Given the description of an element on the screen output the (x, y) to click on. 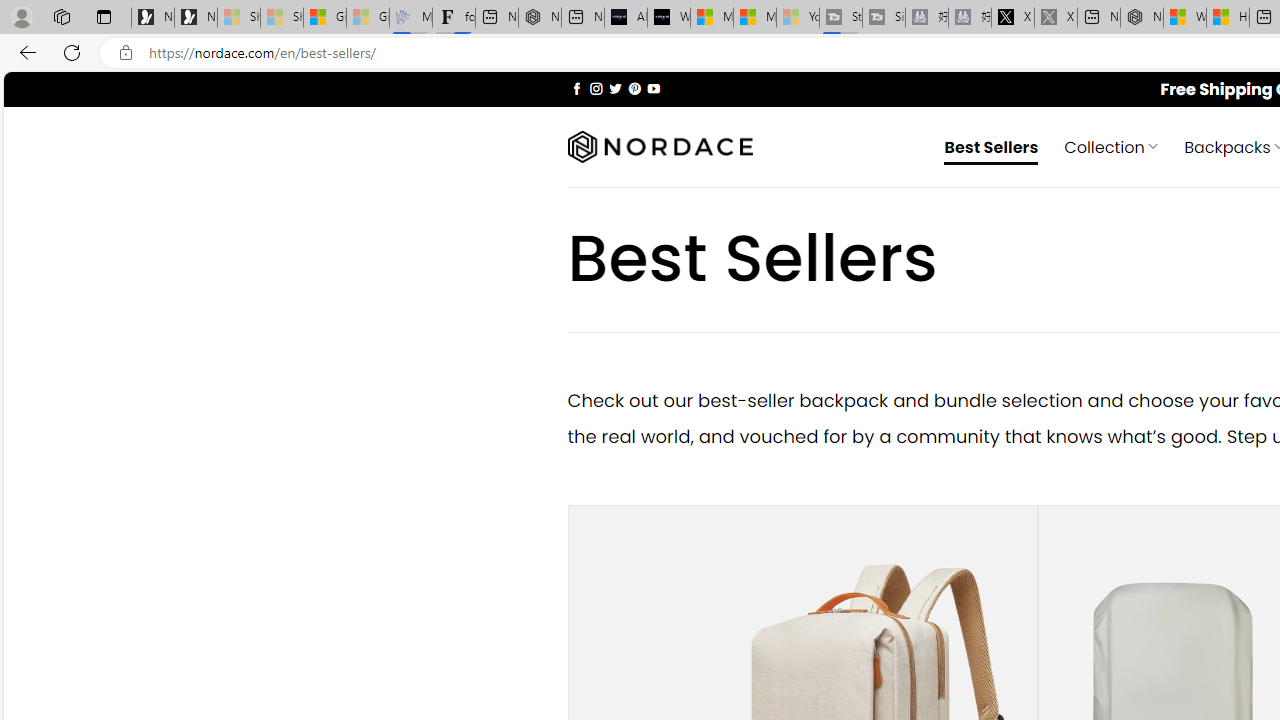
Microsoft Start Sports (712, 17)
Follow on Instagram (596, 88)
  Best Sellers (991, 146)
X - Sleeping (1055, 17)
What's the best AI voice generator? - voice.ai (668, 17)
Huge shark washes ashore at New York City beach | Watch (1228, 17)
Follow on Twitter (615, 88)
Newsletter Sign Up (196, 17)
